Given the description of an element on the screen output the (x, y) to click on. 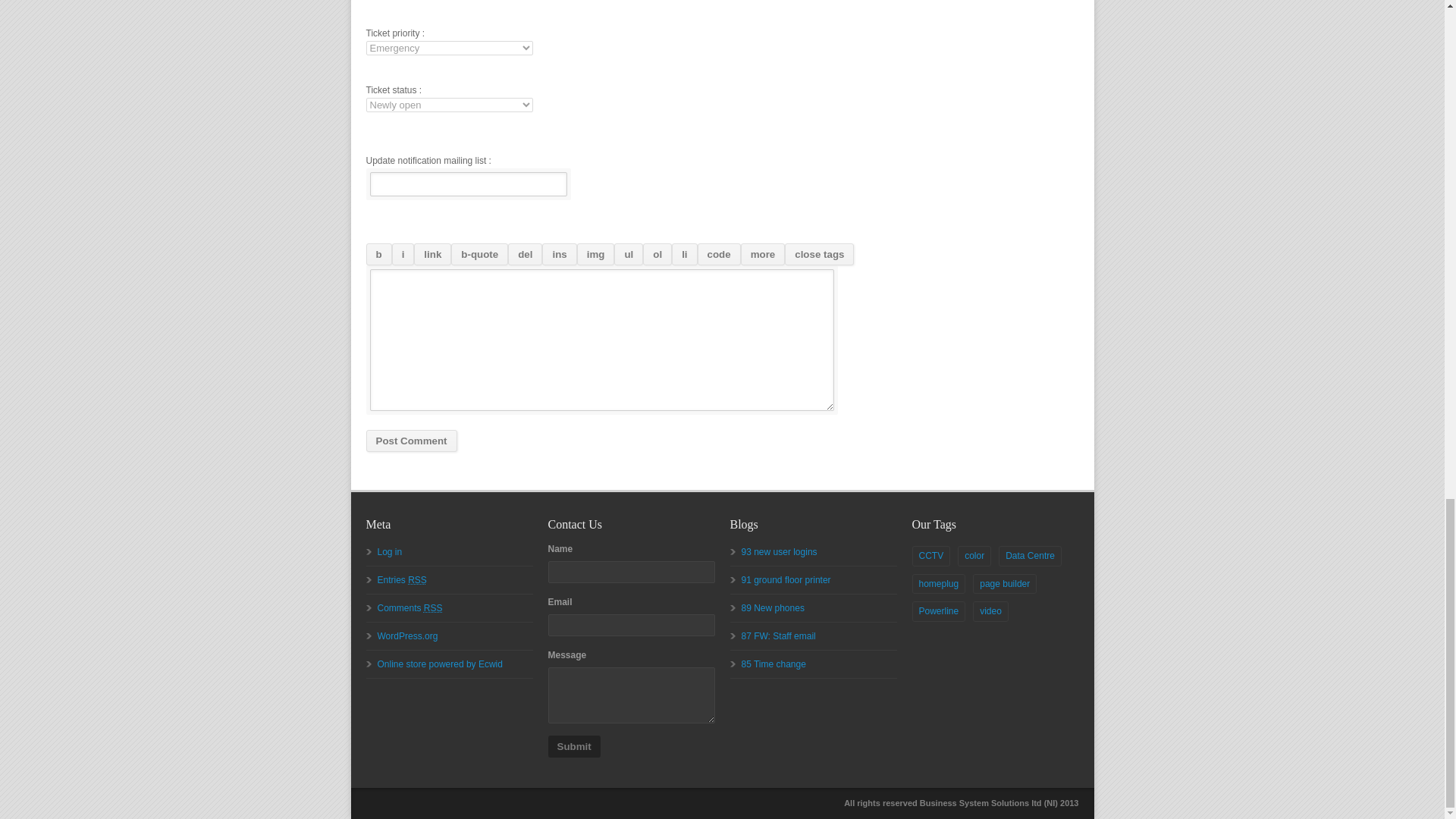
Online store powered by Ecwid (439, 664)
85 Time change (773, 664)
i (402, 254)
93 new user logins (778, 552)
ul (628, 254)
89 New phones (773, 607)
87 FW: Staff email (778, 635)
close tags (818, 254)
li (684, 254)
Post Comment (411, 440)
